Given the description of an element on the screen output the (x, y) to click on. 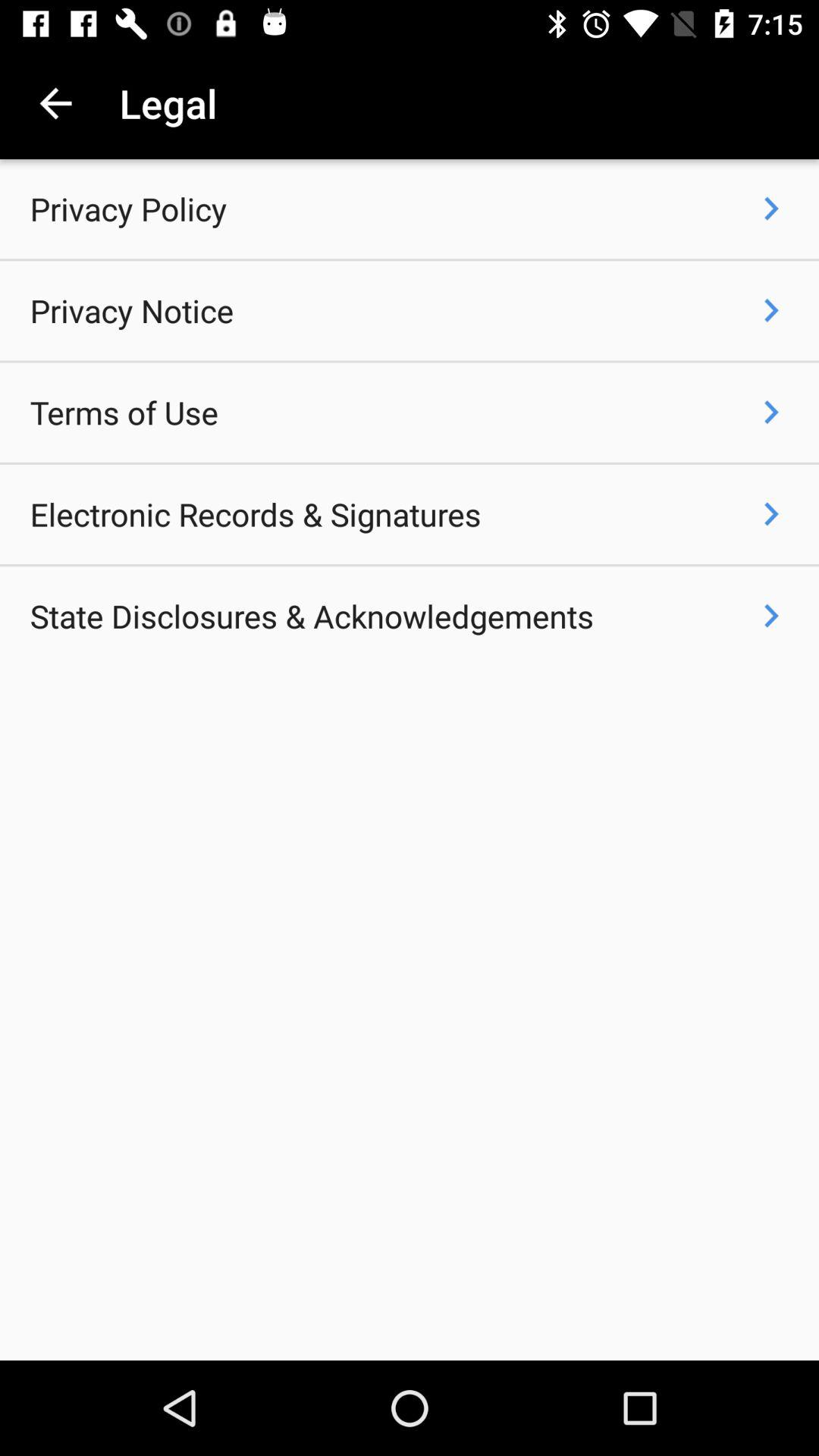
turn on the privacy policy (128, 208)
